Given the description of an element on the screen output the (x, y) to click on. 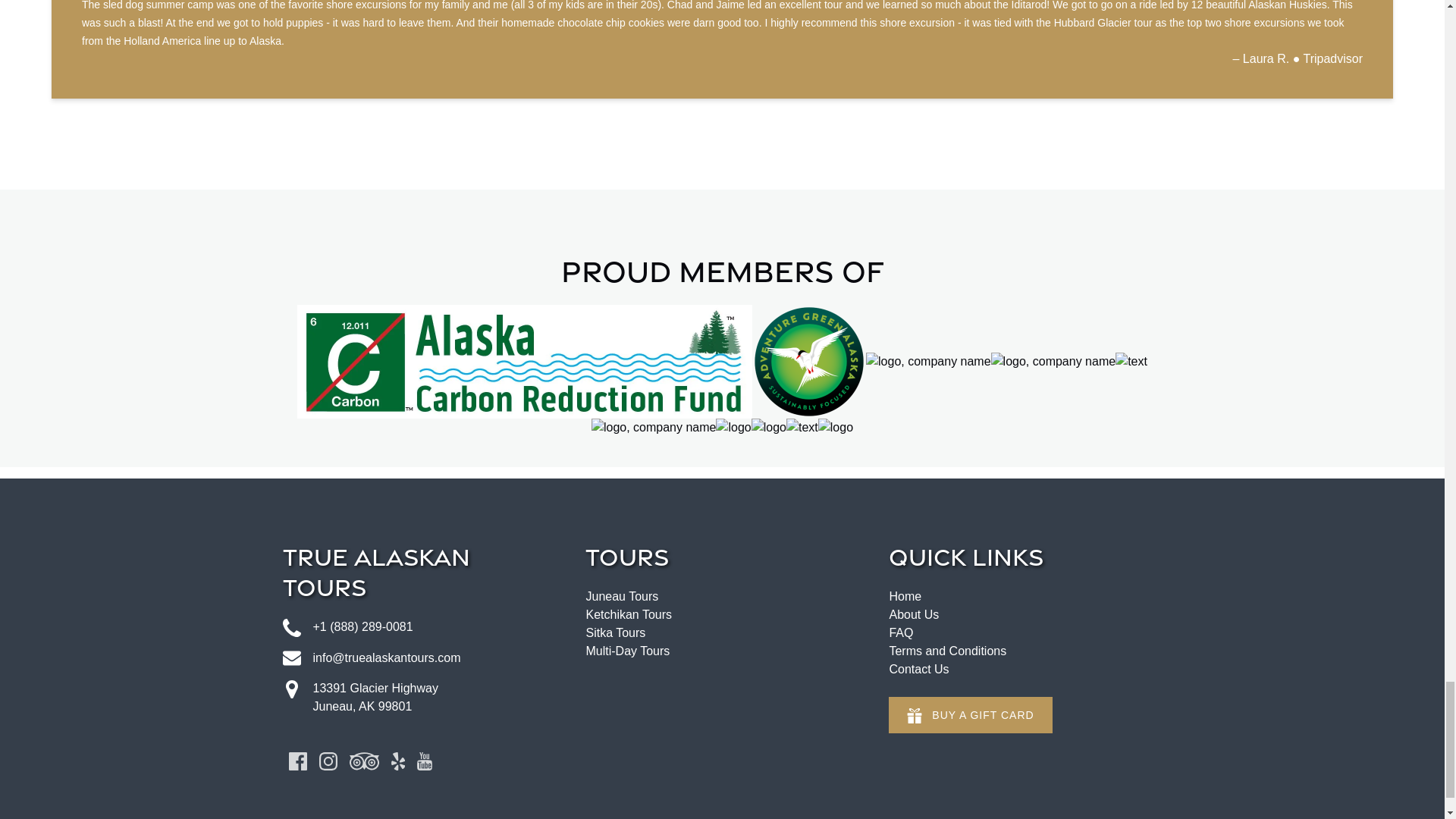
Visit our Facebook (296, 761)
Visit our Instagram (327, 761)
Visit our TripAdvisor (363, 761)
